Given the description of an element on the screen output the (x, y) to click on. 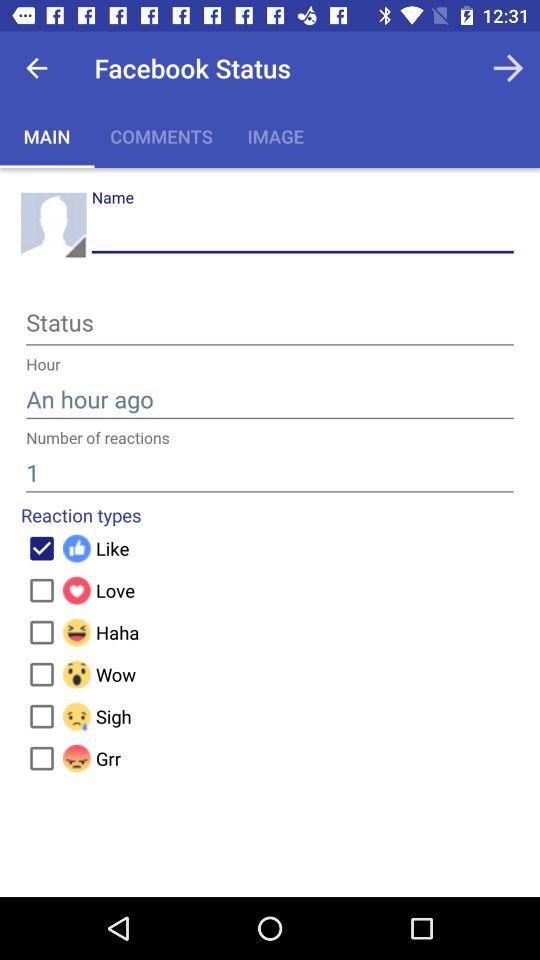
enter the name (302, 232)
